Given the description of an element on the screen output the (x, y) to click on. 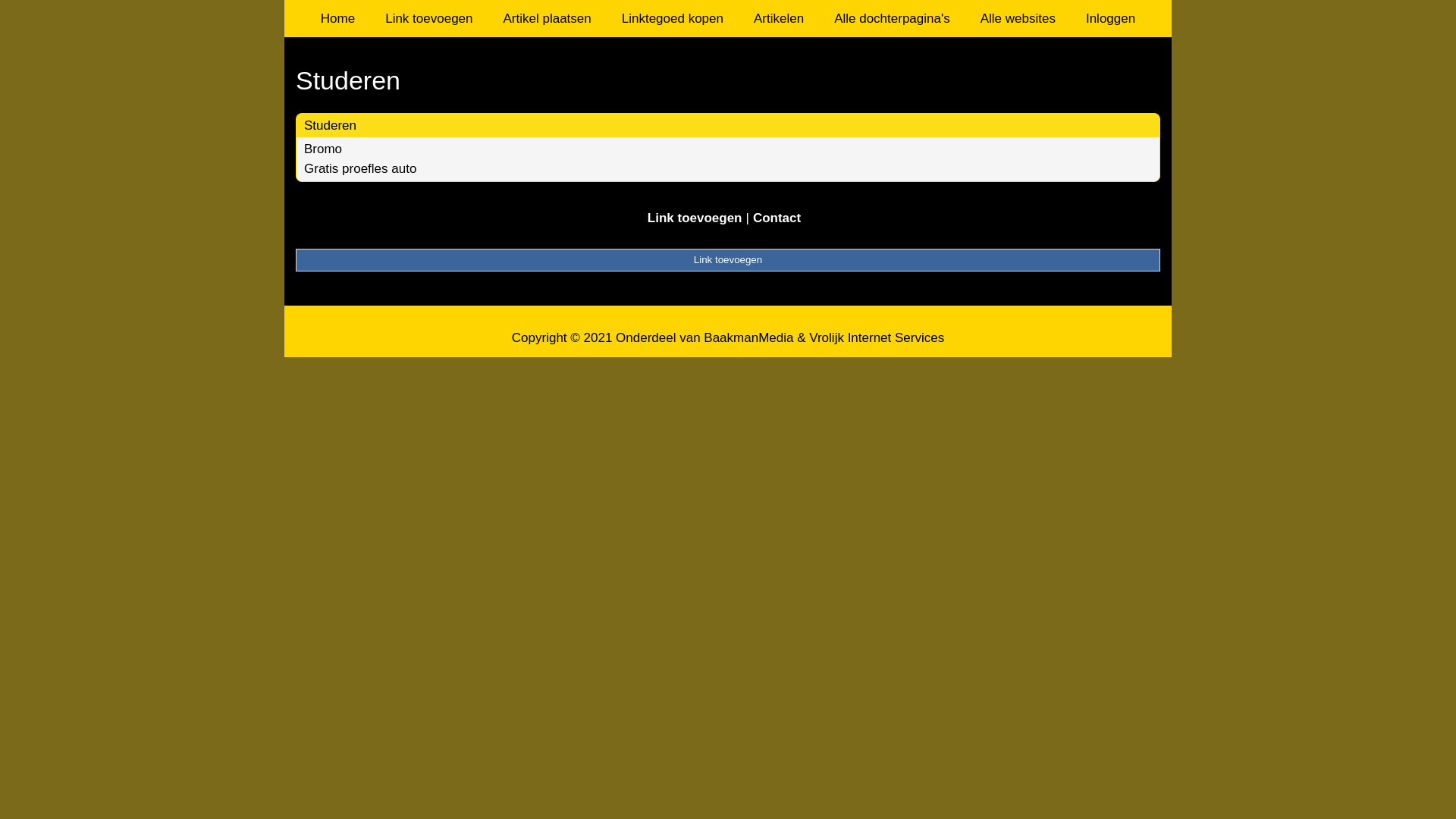
Alle websites Element type: text (1017, 18)
Studeren Element type: text (727, 80)
Linktegoed kopen Element type: text (672, 18)
Studeren Element type: text (330, 125)
Link toevoegen Element type: text (727, 259)
Artikelen Element type: text (778, 18)
Bromo Element type: text (323, 148)
Artikel plaatsen Element type: text (547, 18)
Contact Element type: text (776, 217)
Vrolijk Internet Services Element type: text (876, 337)
BaakmanMedia Element type: text (748, 337)
Link toevoegen Element type: text (428, 18)
Gratis proefles auto Element type: text (360, 168)
Link toevoegen Element type: text (694, 217)
Home Element type: text (337, 18)
Inloggen Element type: text (1110, 18)
Alle dochterpagina's Element type: text (892, 18)
